Given the description of an element on the screen output the (x, y) to click on. 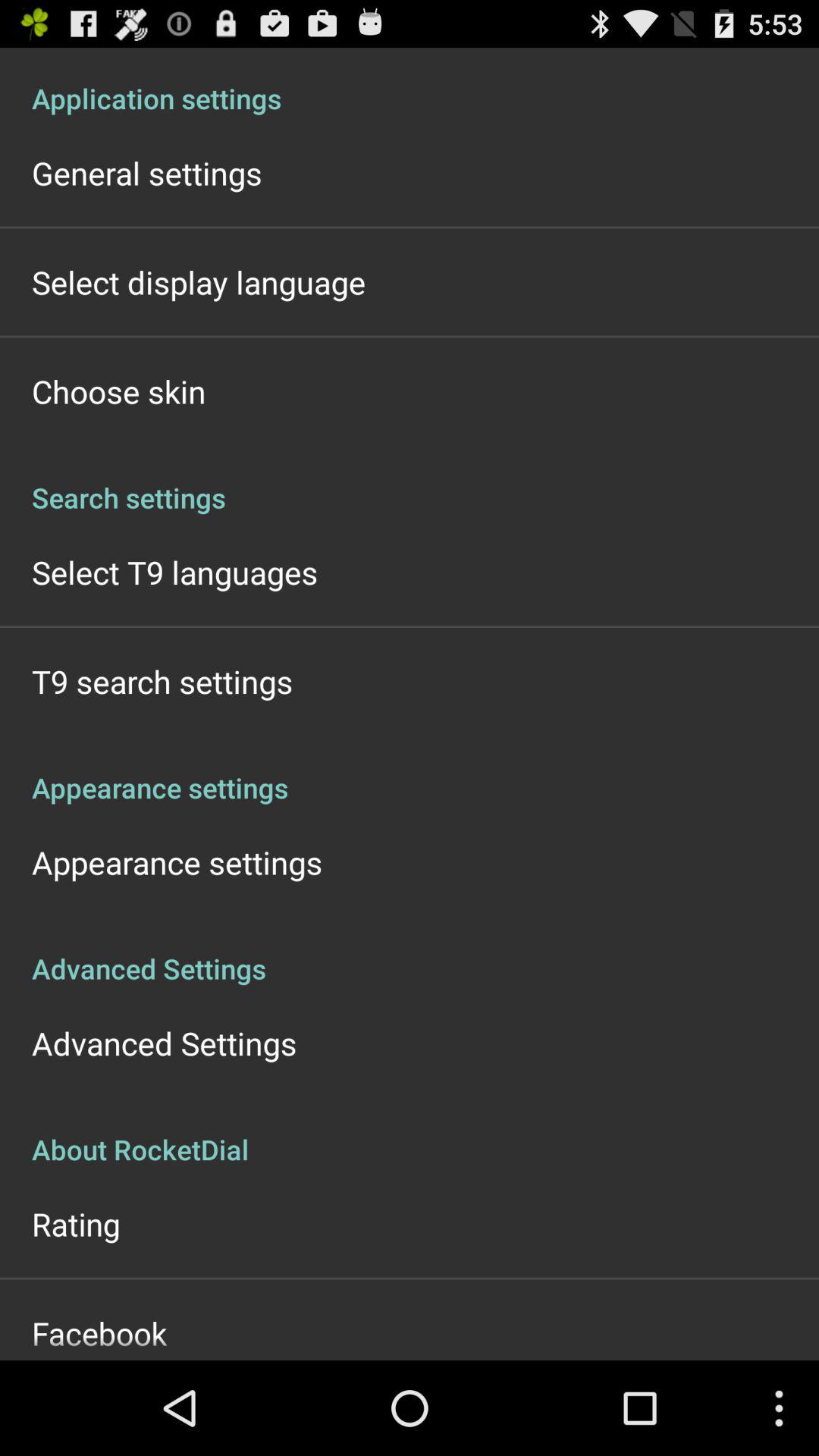
turn off facebook (99, 1332)
